Given the description of an element on the screen output the (x, y) to click on. 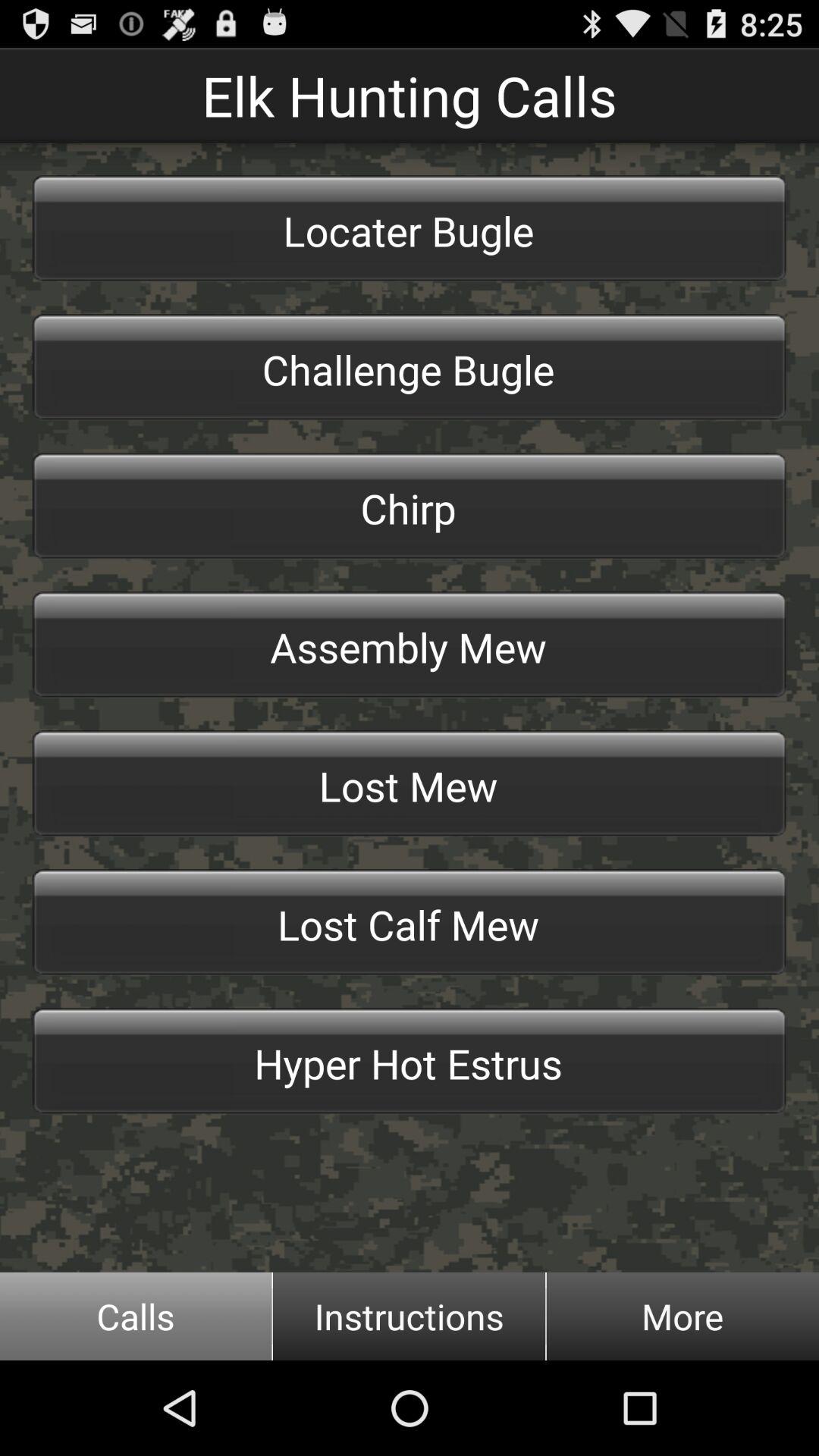
launch the icon above chirp item (409, 366)
